Given the description of an element on the screen output the (x, y) to click on. 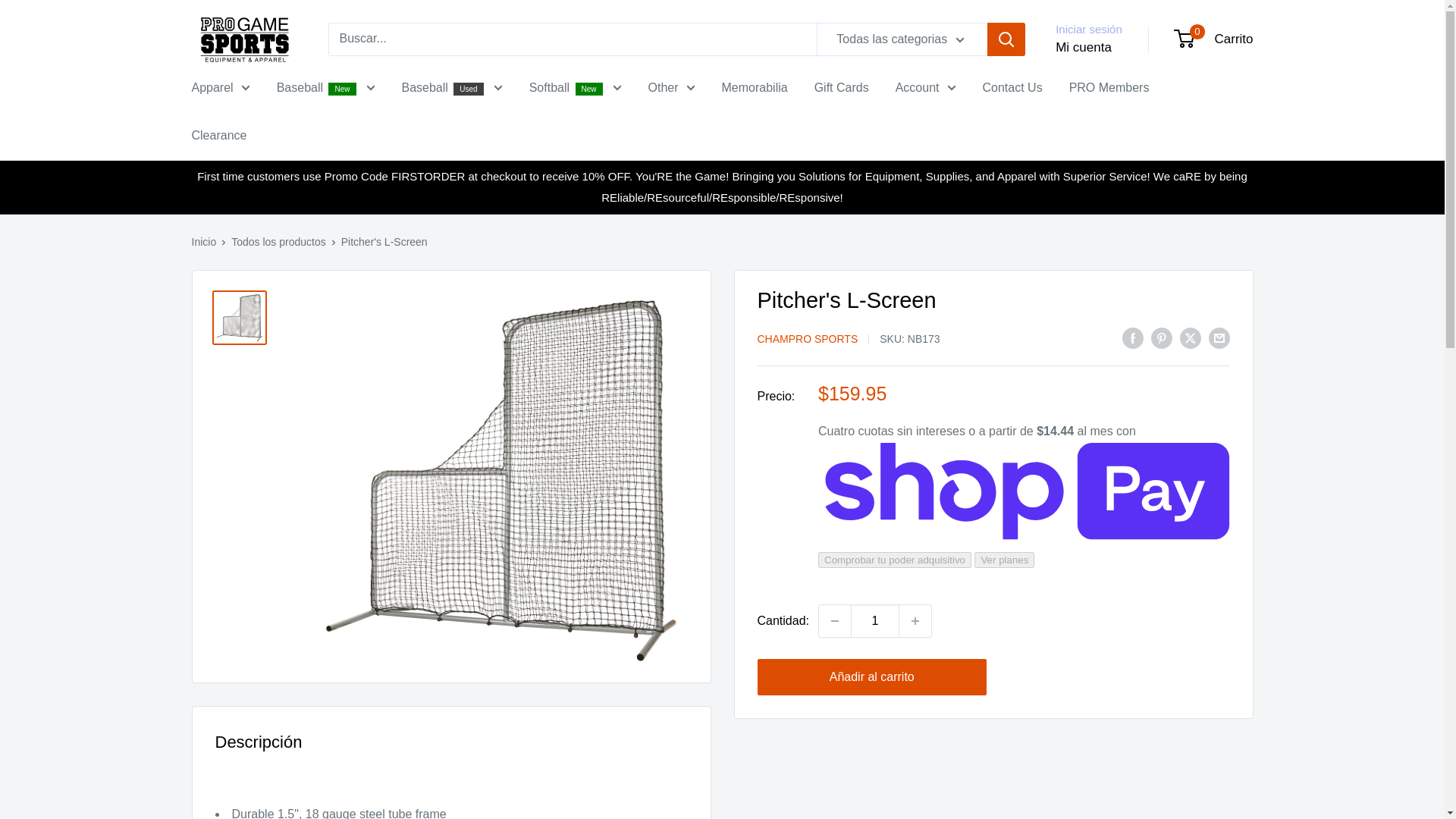
1 (874, 621)
Disminuir la cantidad en 1 (834, 621)
Aumentar la cantidad en 1 (915, 621)
